Given the description of an element on the screen output the (x, y) to click on. 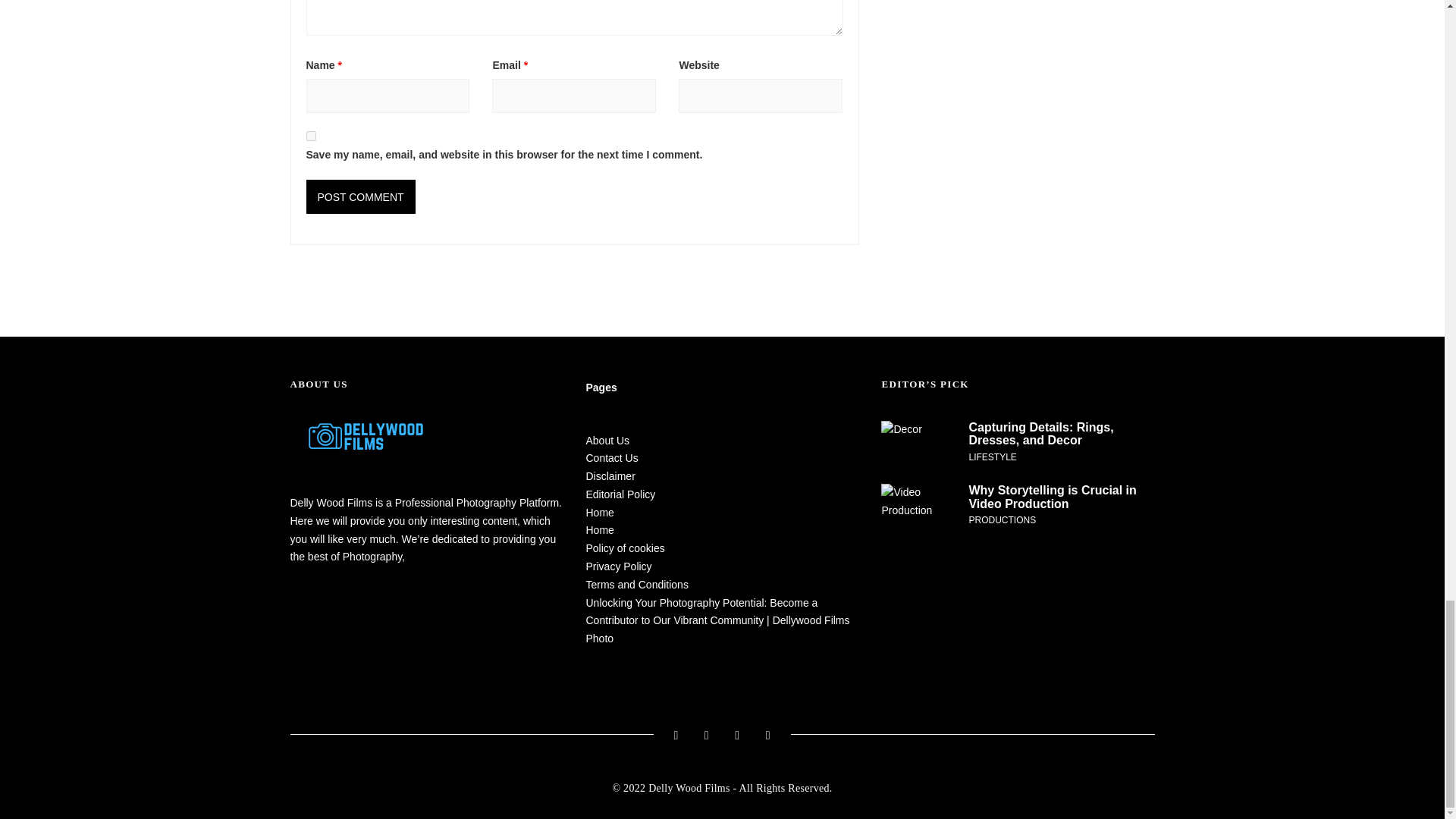
yes (310, 135)
Post Comment (359, 196)
